Given the description of an element on the screen output the (x, y) to click on. 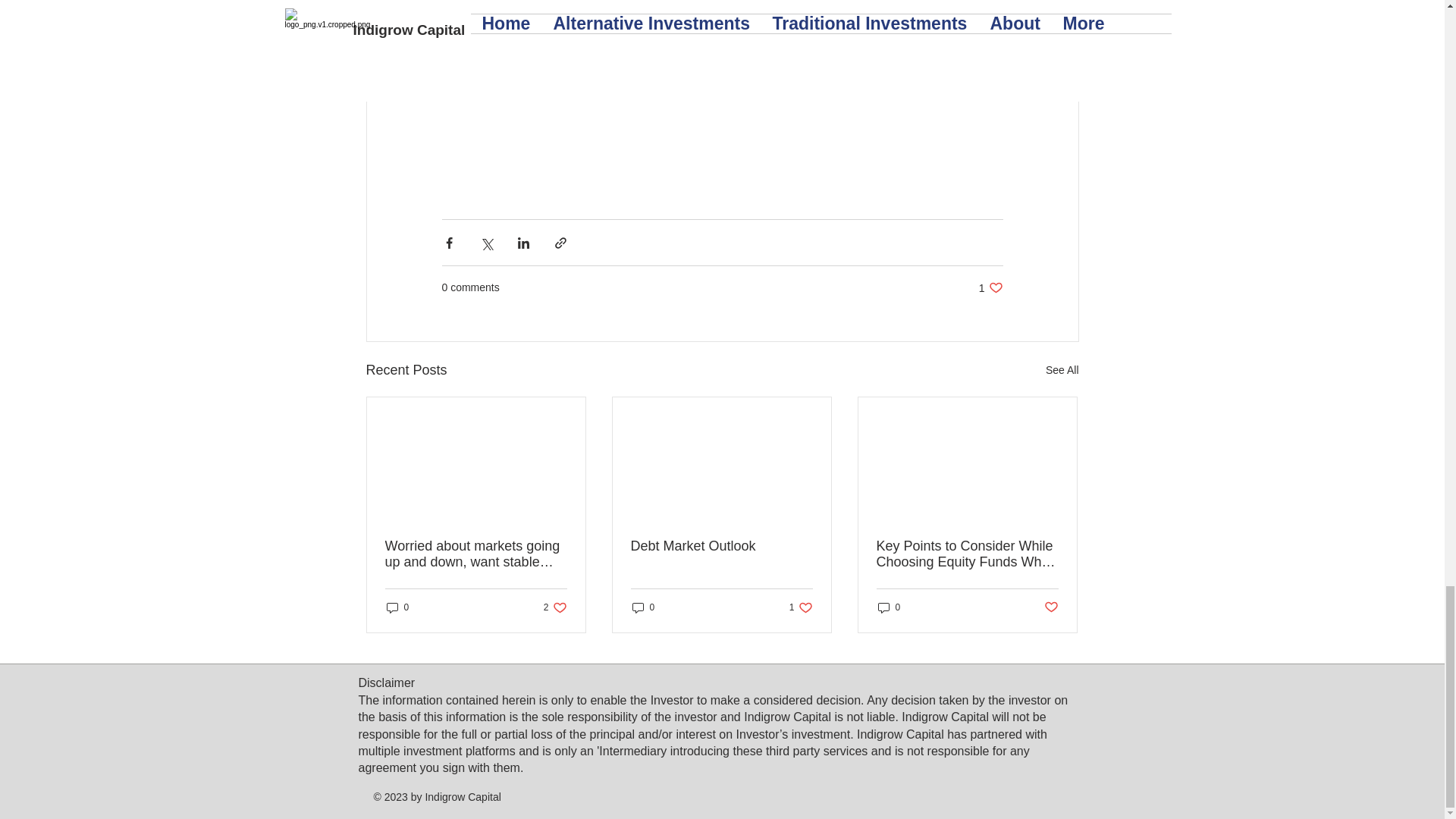
Post not marked as liked (990, 287)
0 (1050, 607)
0 (800, 607)
0 (889, 607)
See All (397, 607)
